Given the description of an element on the screen output the (x, y) to click on. 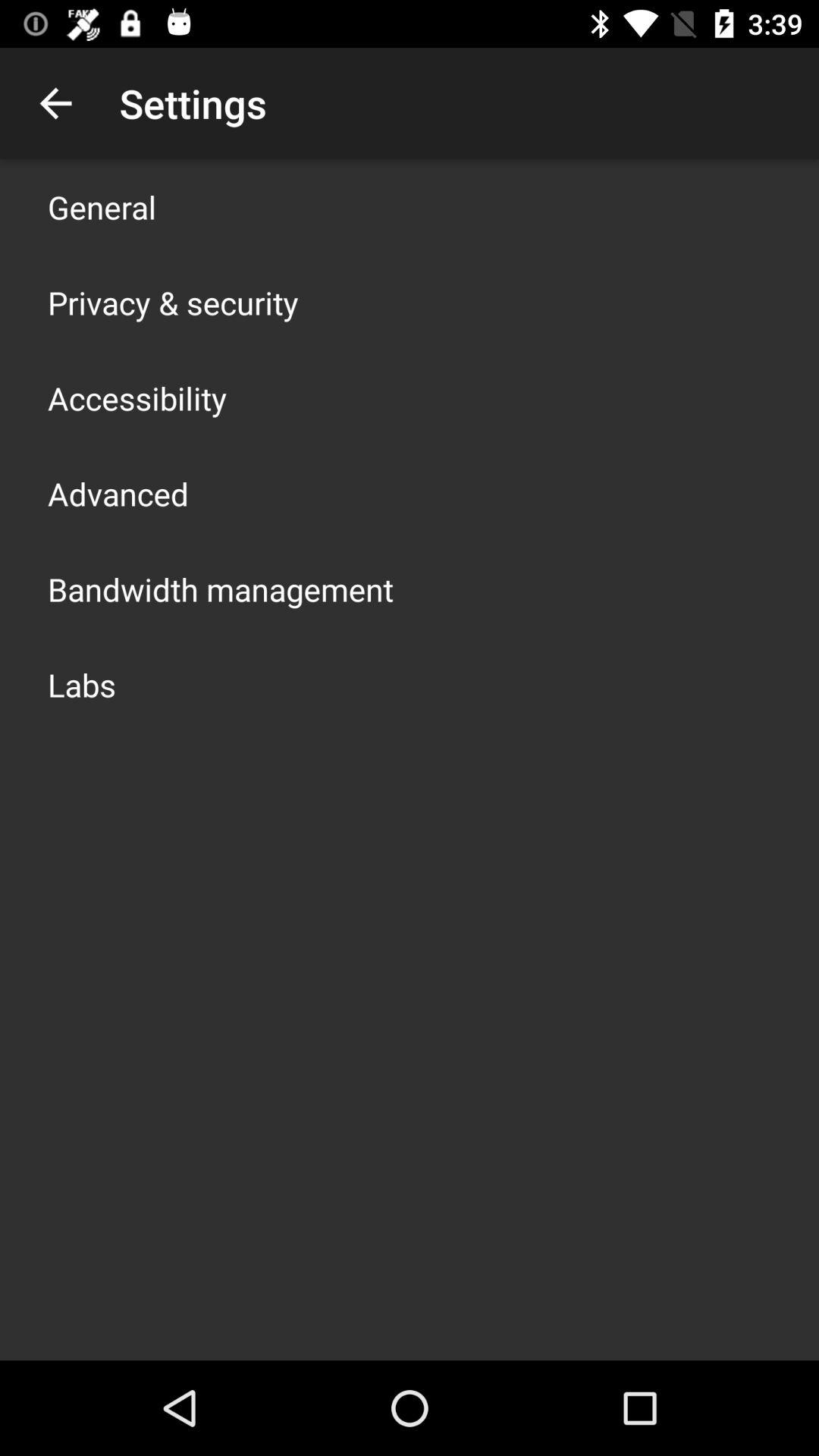
turn on icon above labs item (220, 588)
